Given the description of an element on the screen output the (x, y) to click on. 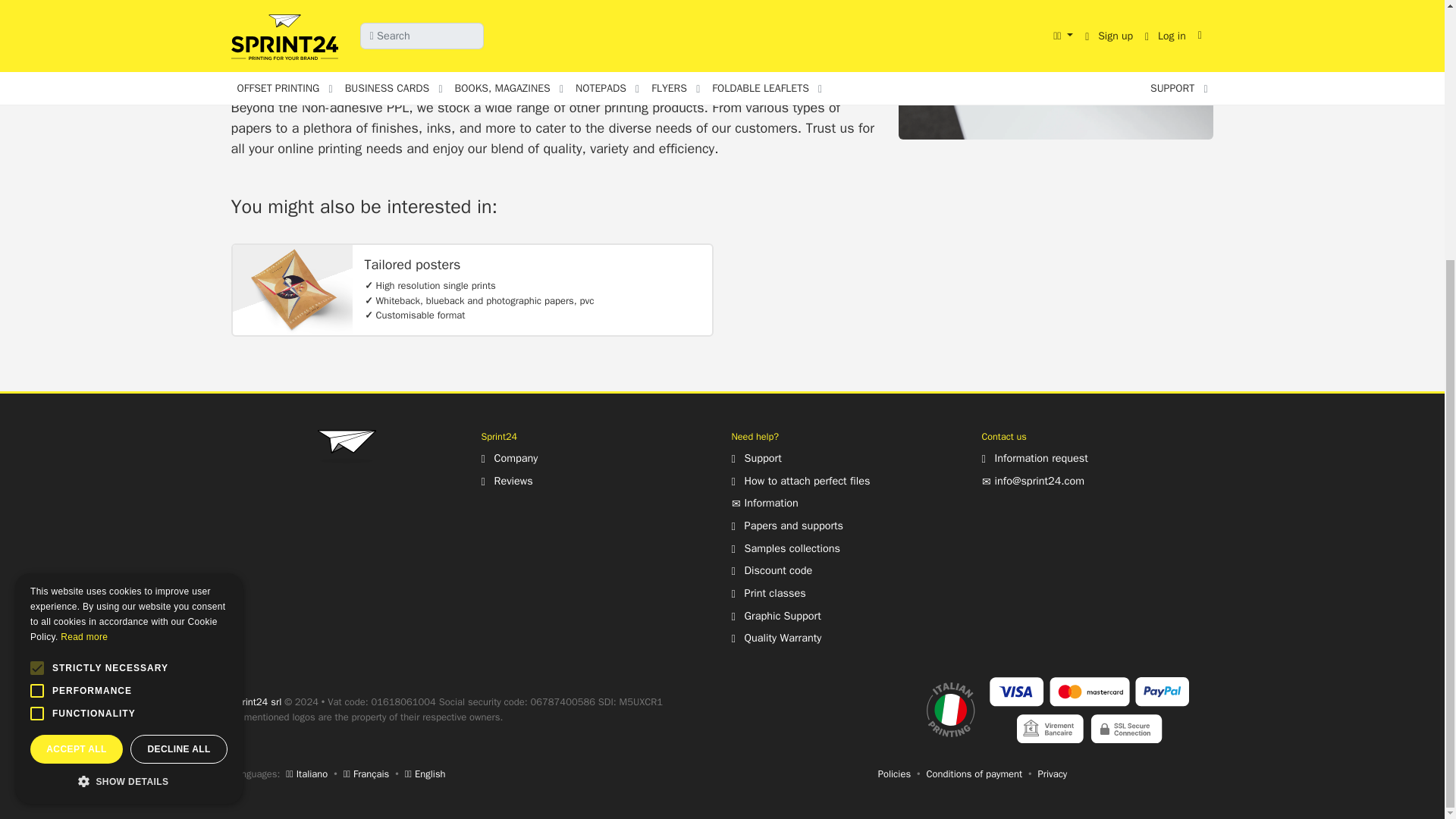
Non-adhesive PPL (1055, 69)
Quality Warranty (775, 637)
Support (755, 458)
How to attach perfect files (799, 480)
Samples collections (785, 548)
Print tailored posters: Print Online at unbeatable prices! (291, 289)
Print classes (767, 592)
Graphic Support (775, 615)
Papers and supports (786, 525)
Information (763, 502)
Discount Code: Printing Custom Online UK (771, 570)
